Given the description of an element on the screen output the (x, y) to click on. 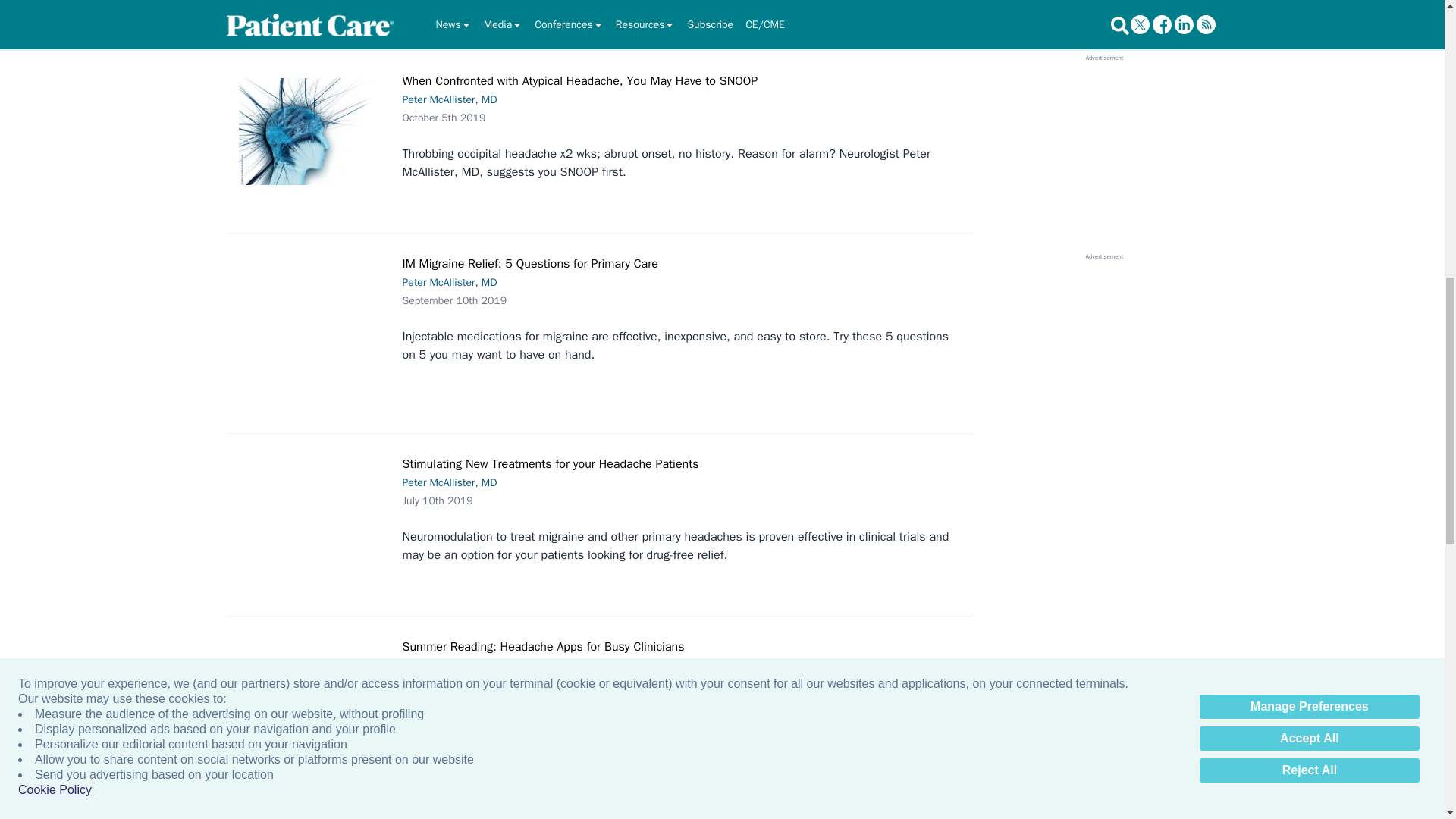
Stimulating New Treatments for your Headache Patients (311, 508)
Summer Reading: Headache Apps for Busy Clinicians (311, 715)
